Given the description of an element on the screen output the (x, y) to click on. 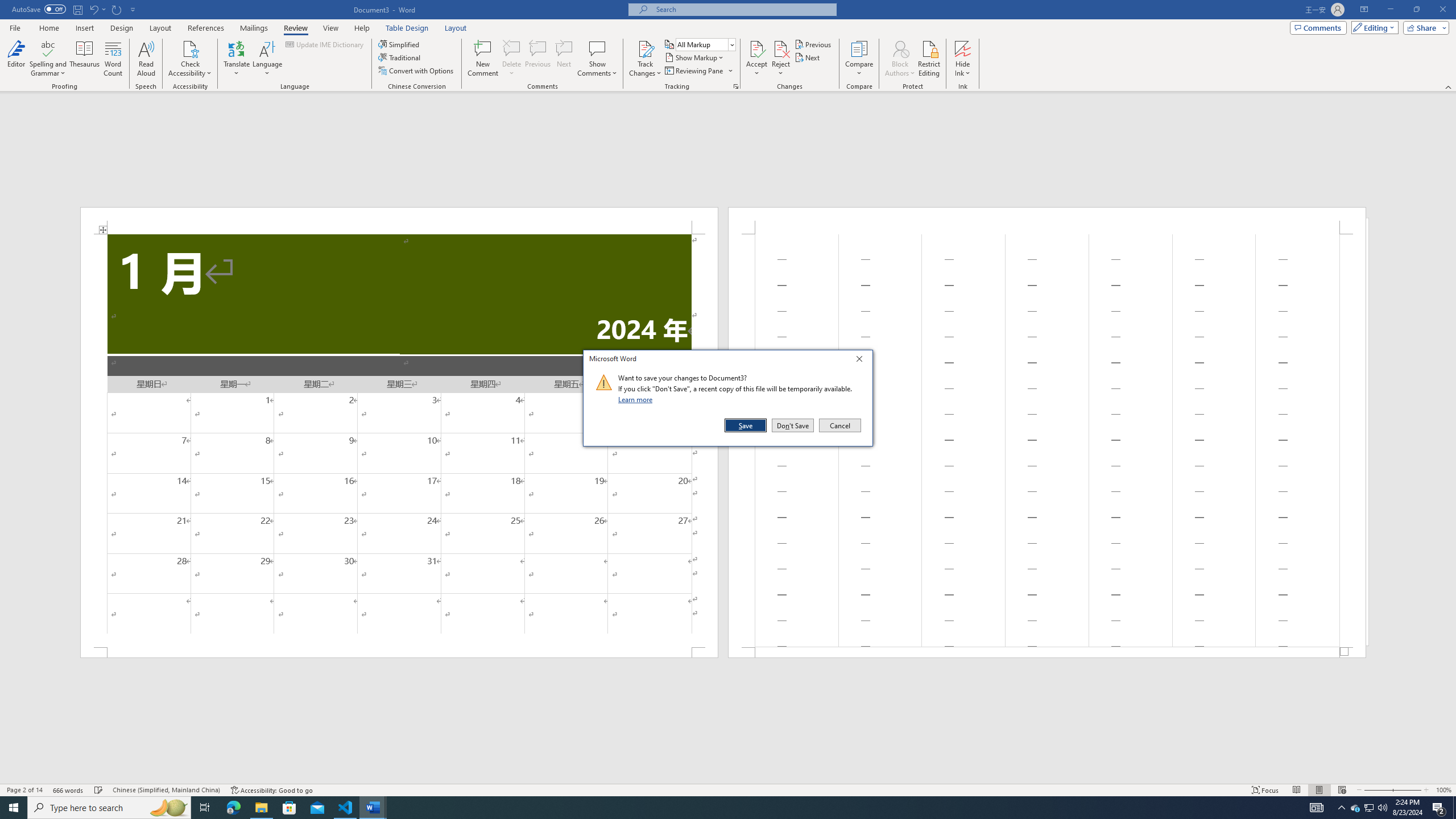
Mode (1372, 27)
Change Tracking Options... (735, 85)
Reject and Move to Next (780, 48)
Visual Studio Code - 1 running window (1368, 807)
Spelling and Grammar (345, 807)
Search highlights icon opens search home window (48, 48)
Accept (167, 807)
